Given the description of an element on the screen output the (x, y) to click on. 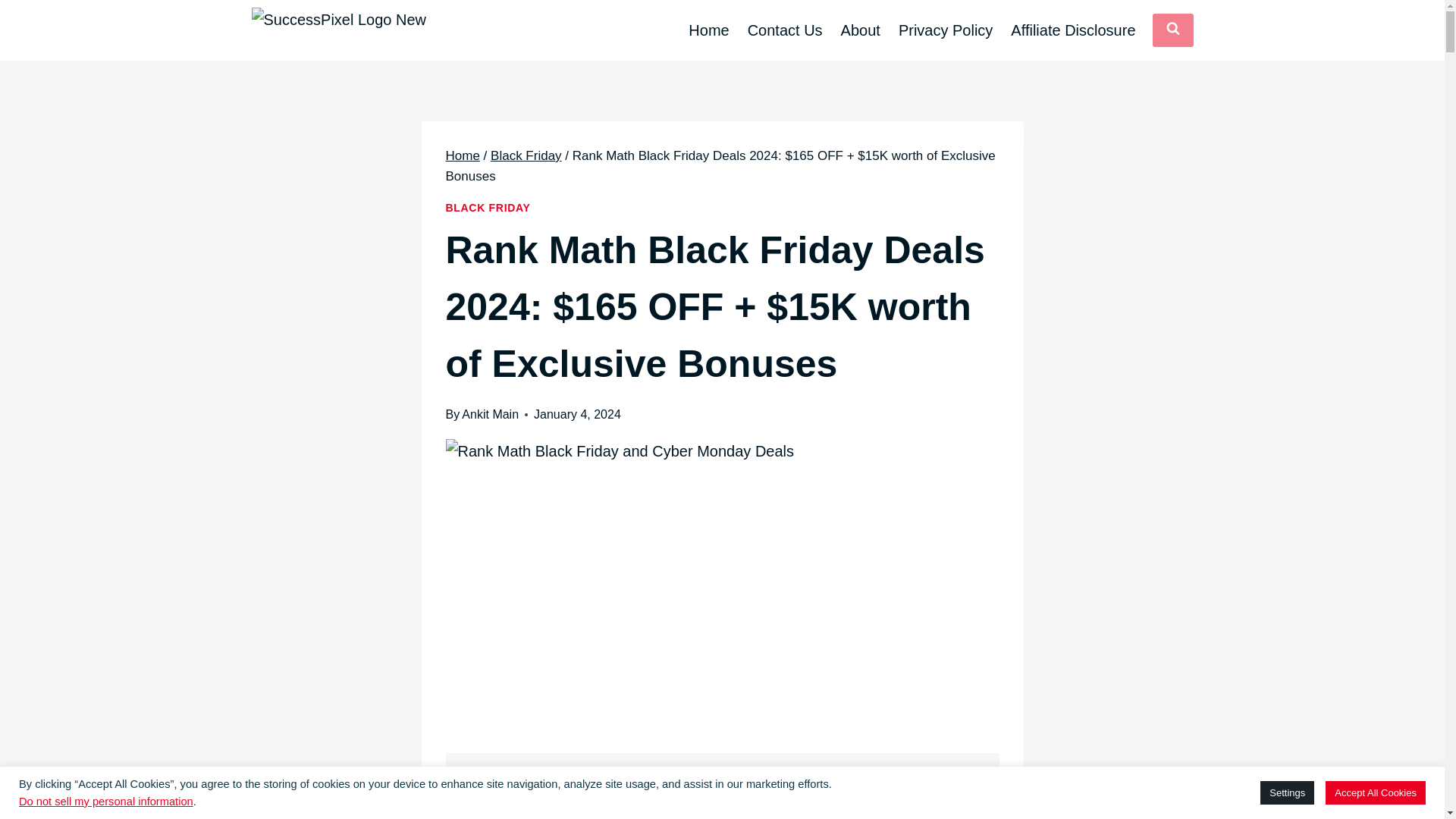
Home (708, 30)
Home (462, 155)
BLACK FRIDAY (488, 207)
Contact Us (784, 30)
Privacy Policy (945, 30)
About (860, 30)
Black Friday (526, 155)
Ankit Main (489, 413)
Affiliate Disclosure (1072, 30)
